Given the description of an element on the screen output the (x, y) to click on. 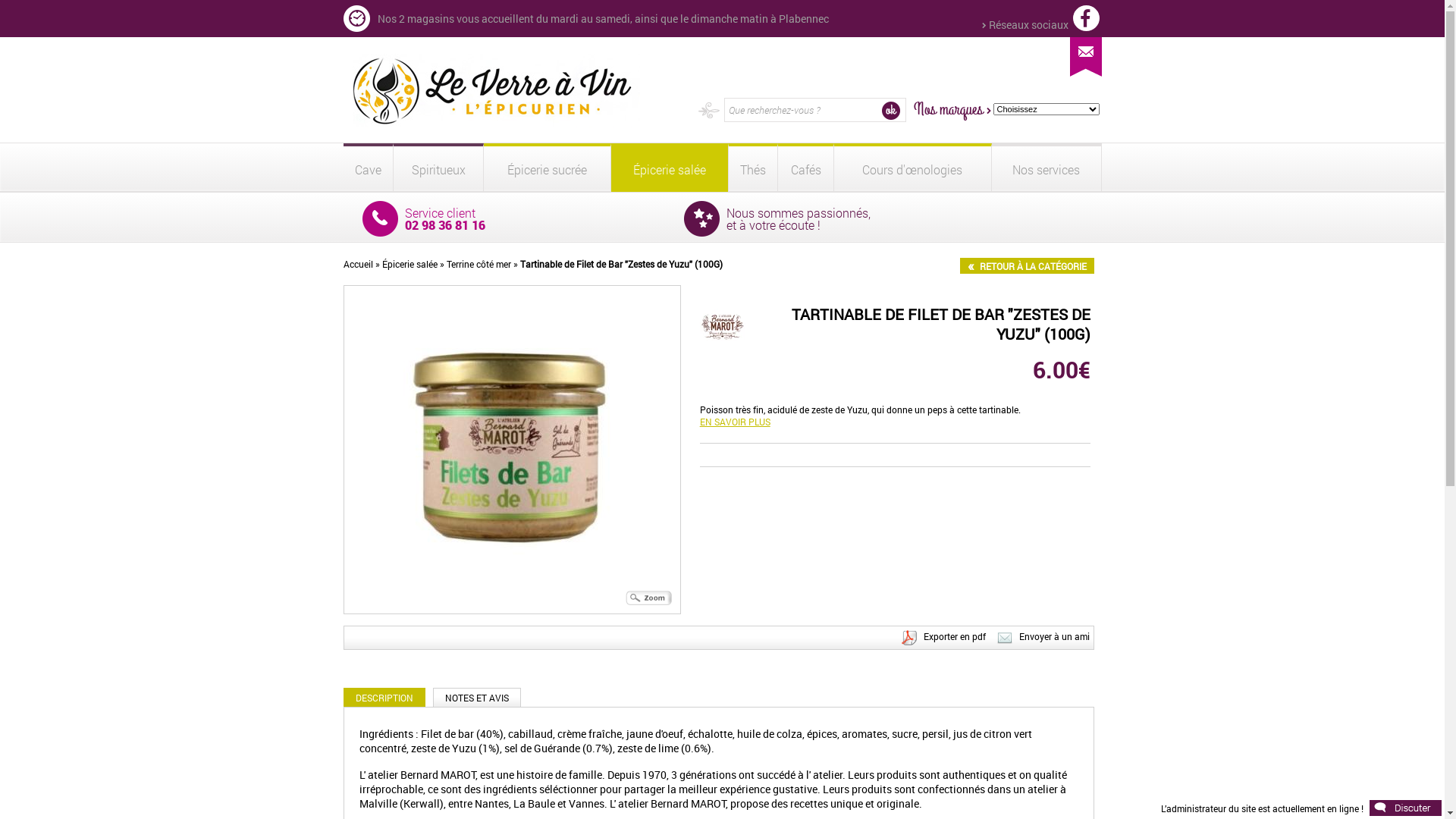
Zoom Element type: hover (648, 597)
Exporter en pdf Element type: hover (910, 637)
Tartinable de Filet de Bar Zestes de Yuzu (100G) Element type: hover (511, 449)
Nos services Element type: text (1046, 168)
 Lancer la recherche  Element type: hover (890, 110)
EN SAVOIR PLUS Element type: text (734, 421)
Atelier Bernard MAROT Element type: hover (722, 326)
Cave Element type: text (367, 168)
Accueil Element type: text (357, 263)
Exporter en pdf Element type: text (954, 636)
Spiritueux Element type: text (438, 168)
  Element type: text (1085, 18)
